Given the description of an element on the screen output the (x, y) to click on. 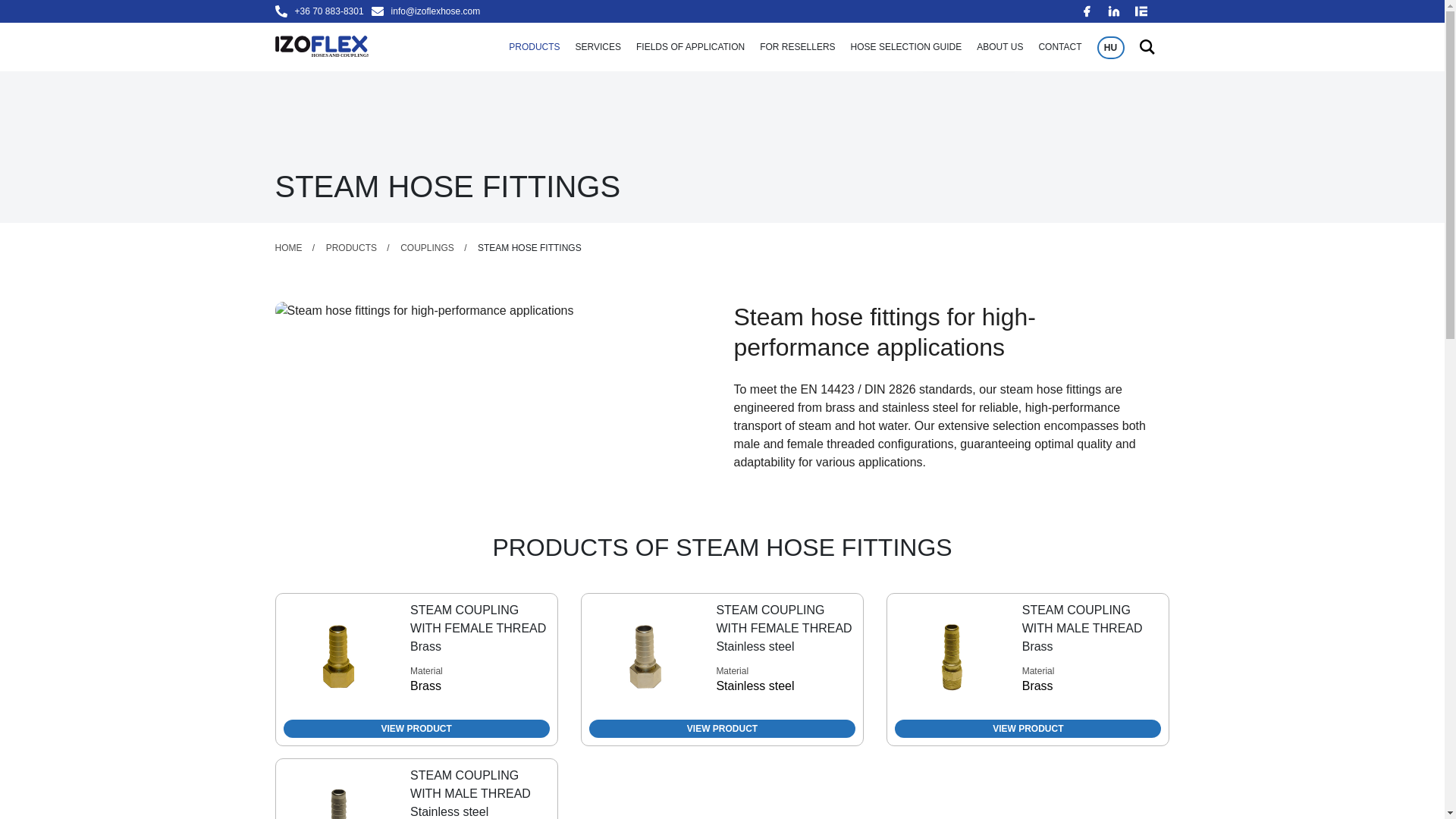
Premium rubber hoses (639, 24)
Chemical industry hoses (844, 7)
PRODUCTS (533, 46)
Flexible metal hoses (635, 7)
COUPLINGS (504, 7)
SERVICES (597, 46)
